Given the description of an element on the screen output the (x, y) to click on. 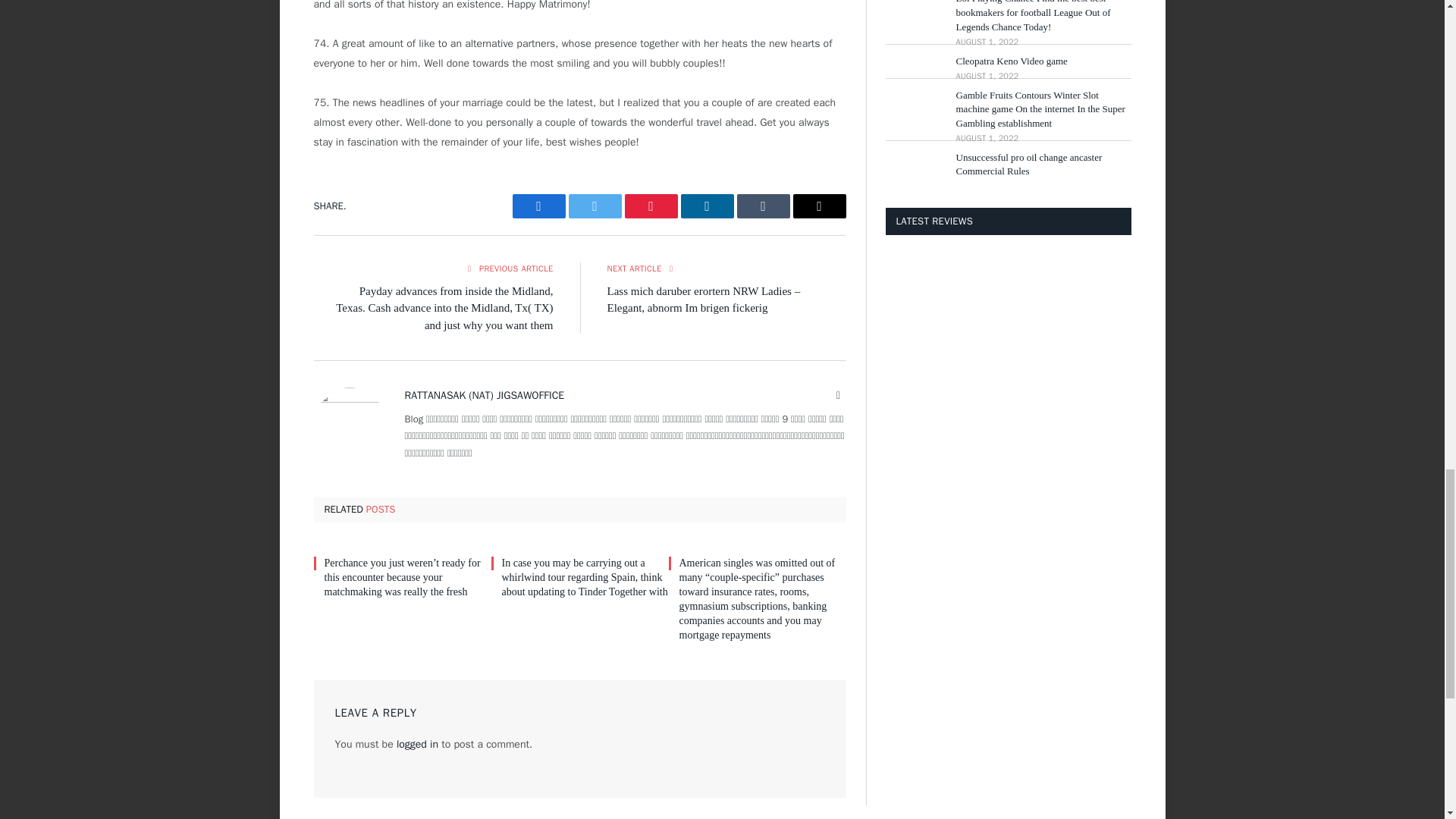
Share on Tumblr (763, 206)
Pinterest (651, 206)
logged in (417, 744)
Website (838, 395)
Share via Email (819, 206)
Email (819, 206)
Tumblr (763, 206)
Facebook (539, 206)
Website (838, 395)
Share on LinkedIn (707, 206)
LinkedIn (707, 206)
Share on Pinterest (651, 206)
Share on Facebook (539, 206)
Twitter (595, 206)
